Given the description of an element on the screen output the (x, y) to click on. 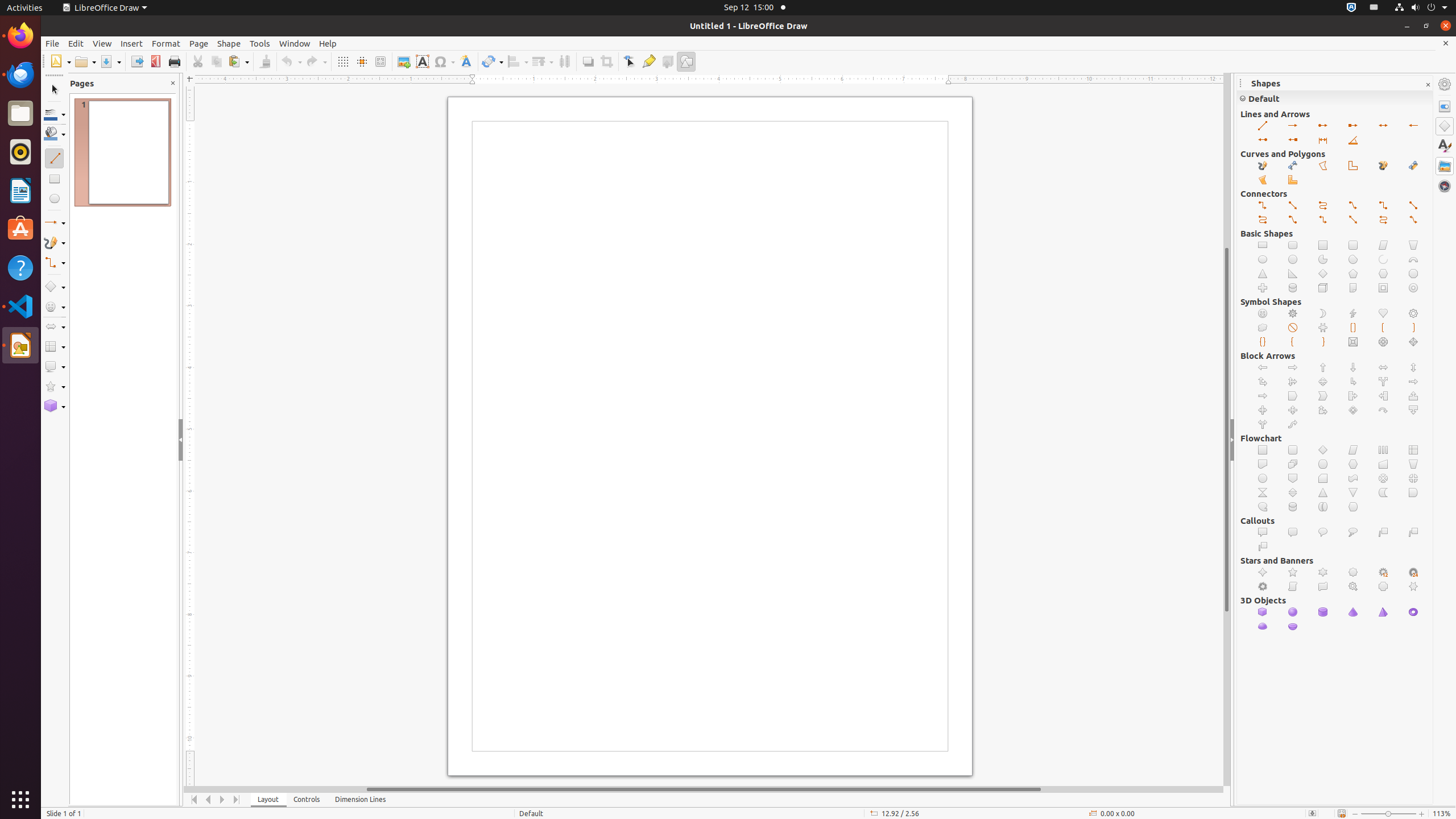
Flowchart: Collate Element type: list-item (1262, 492)
6-Point Star Element type: list-item (1323, 572)
Align Element type: push-button (517, 61)
Right Bracket Element type: list-item (1413, 327)
